Given the description of an element on the screen output the (x, y) to click on. 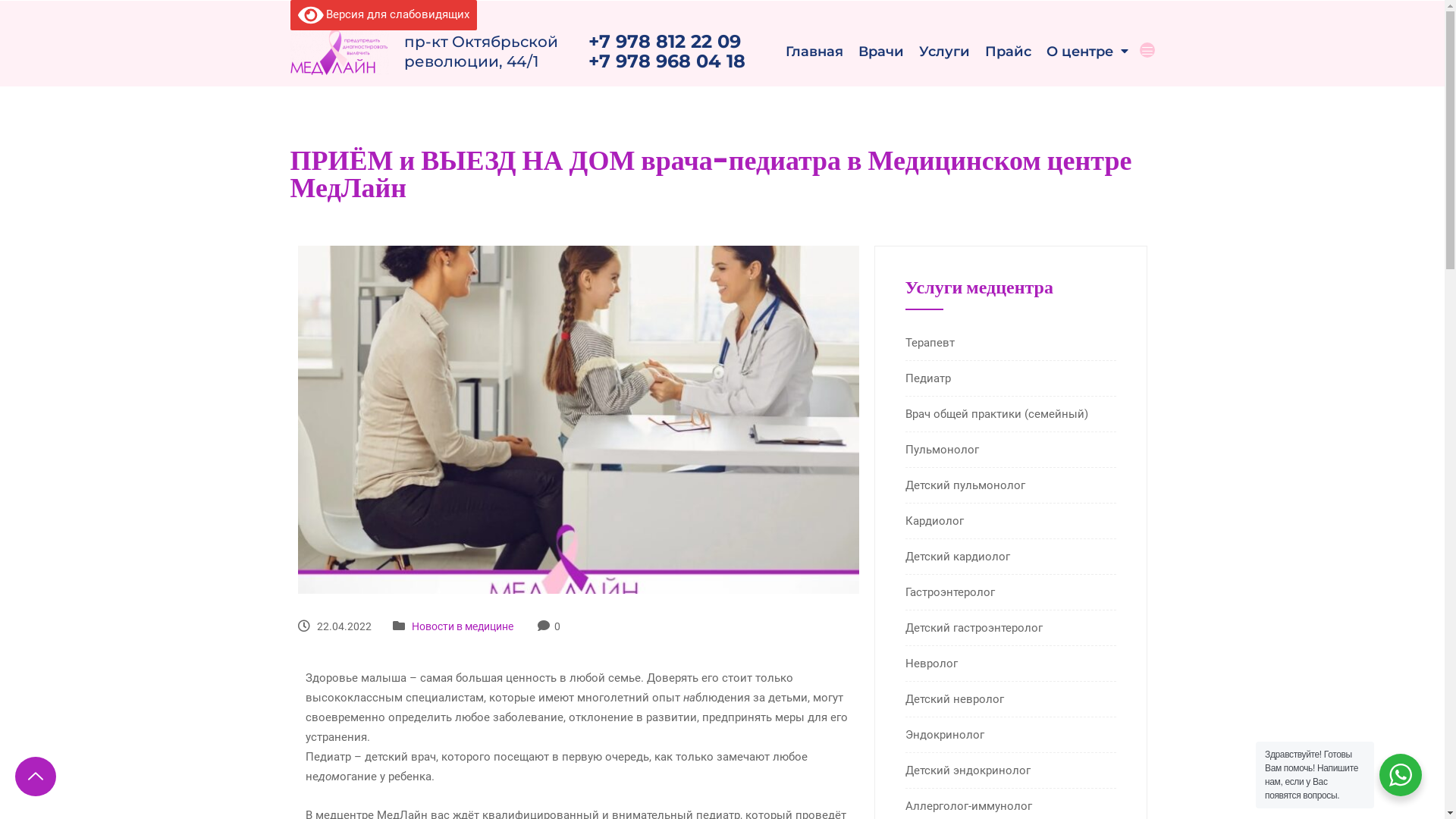
+7 978 812 22 09 Element type: text (666, 41)
+7 978 968 04 18 Element type: text (666, 61)
logo Element type: hover (338, 51)
